Given the description of an element on the screen output the (x, y) to click on. 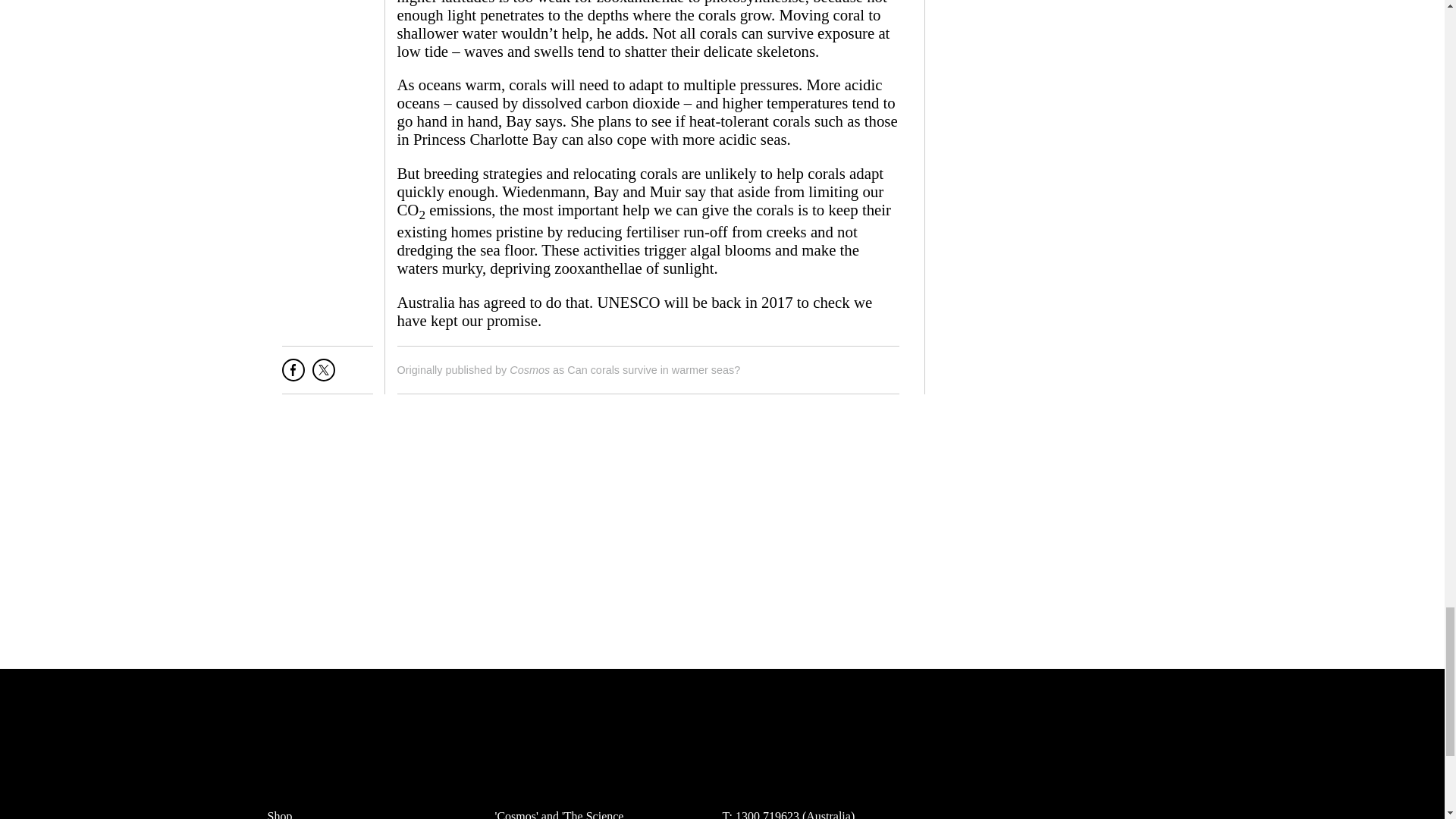
Share on Facebook (293, 375)
Can corals survive in warmer seas? (653, 369)
Tweet (323, 375)
